Given the description of an element on the screen output the (x, y) to click on. 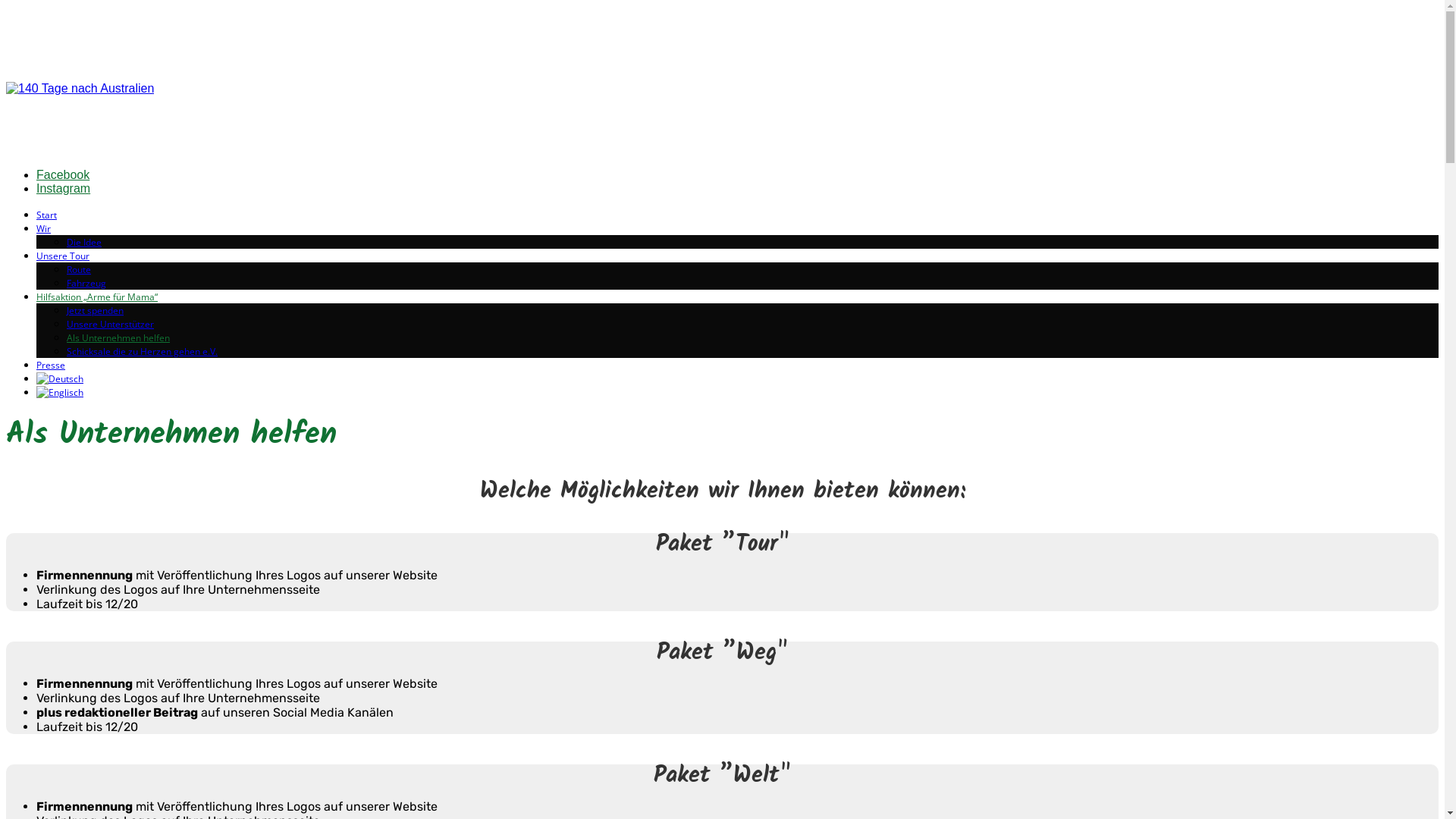
Die Idee Element type: text (83, 241)
Schicksale die zu Herzen gehen e.V. Element type: text (141, 351)
Facebook Element type: text (62, 174)
Fahrzeug Element type: text (86, 282)
Wir Element type: text (43, 228)
140 Tage nach Australien Element type: hover (79, 87)
Jetzt spenden Element type: text (94, 310)
Route Element type: text (78, 269)
Instagram Element type: text (63, 188)
Als Unternehmen helfen Element type: text (117, 337)
Unsere Tour Element type: text (62, 255)
Start Element type: text (46, 214)
Presse Element type: text (50, 364)
